Given the description of an element on the screen output the (x, y) to click on. 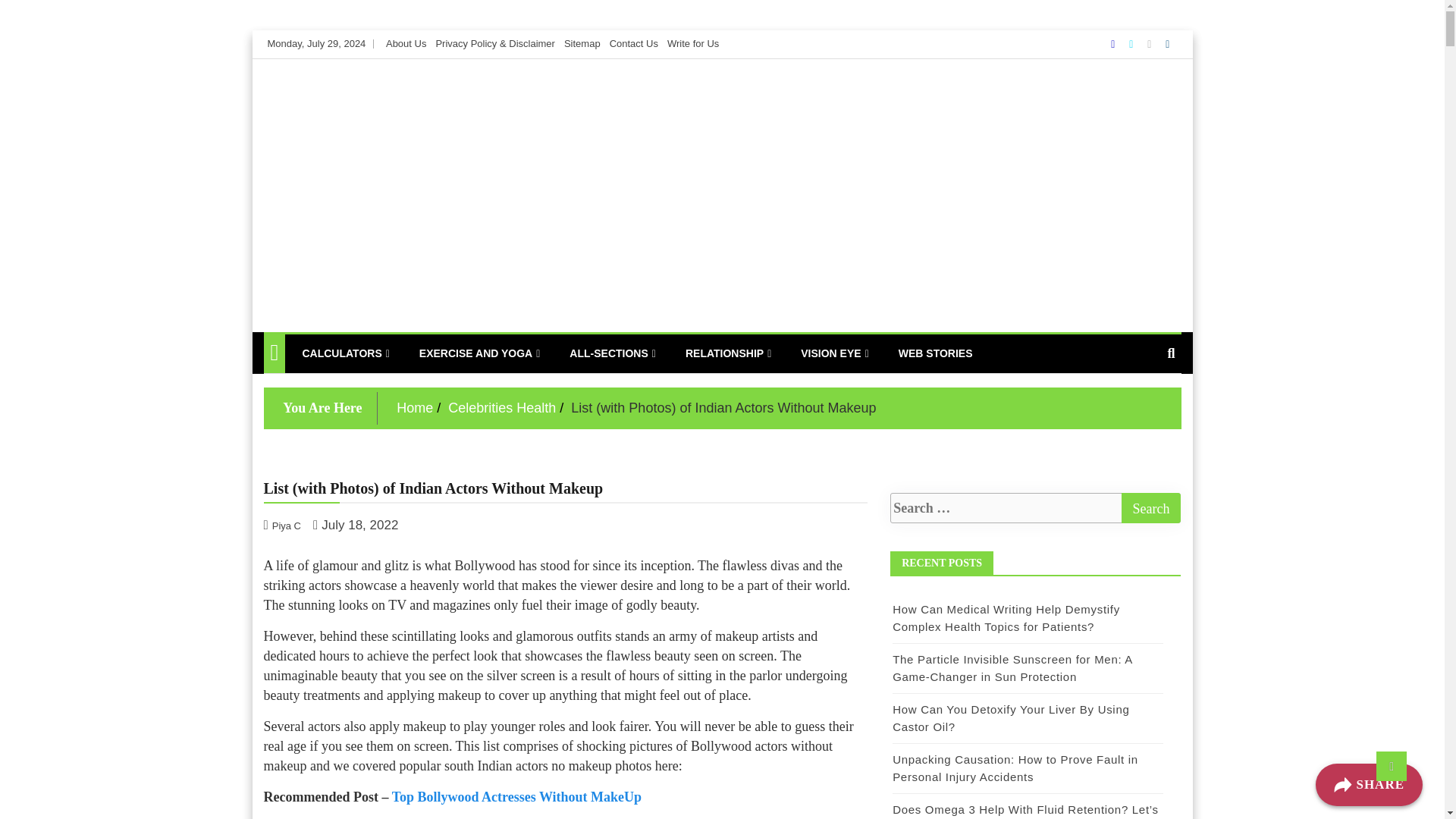
Search (1150, 508)
Sitemap (581, 43)
EXERCISE AND YOGA (479, 353)
Search (1150, 508)
Contact Us (634, 43)
Write for Us (692, 43)
CALCULATORS (344, 353)
About Us (405, 43)
